Given the description of an element on the screen output the (x, y) to click on. 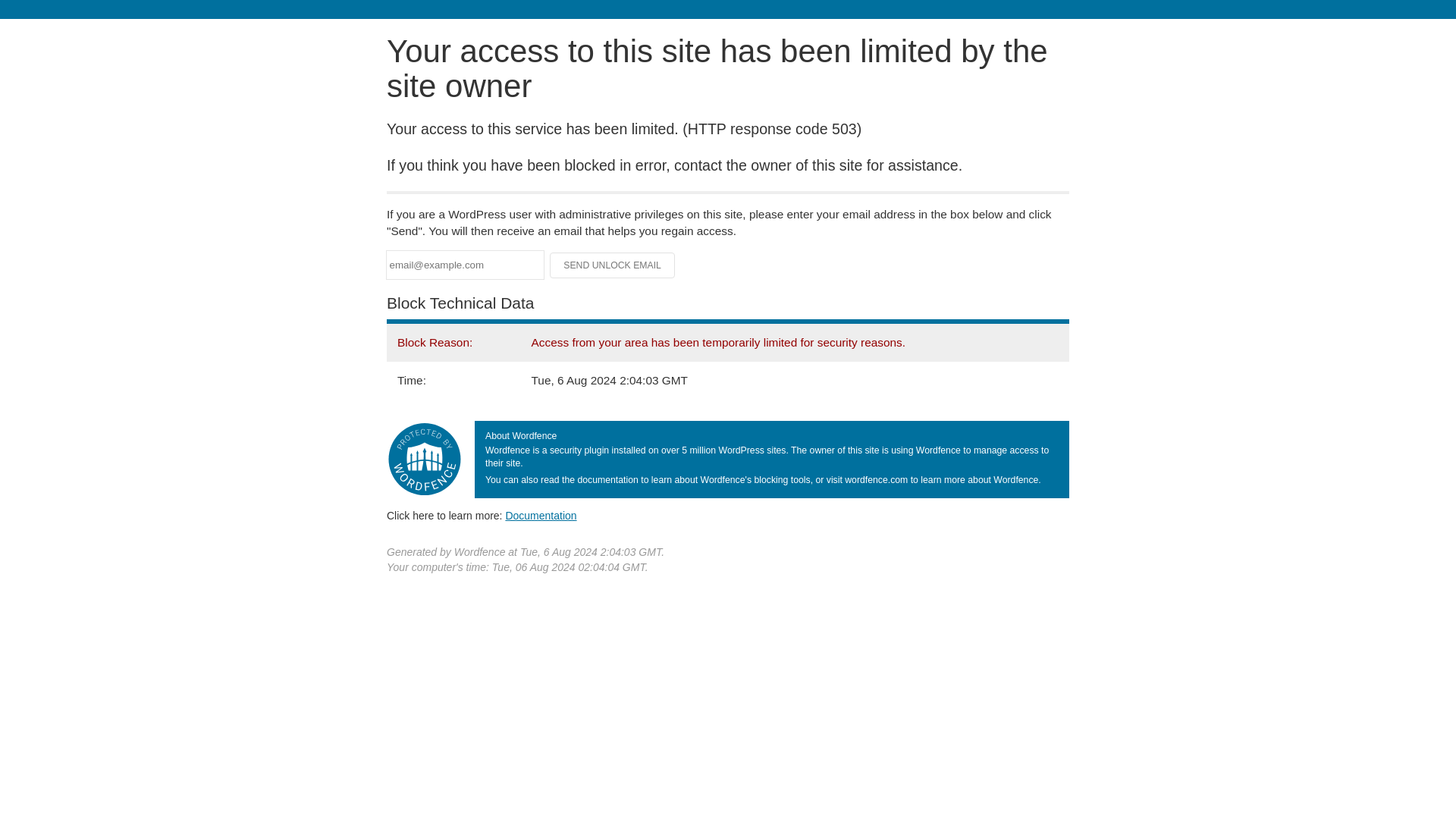
Send Unlock Email (612, 265)
Send Unlock Email (612, 265)
Documentation (540, 515)
